Given the description of an element on the screen output the (x, y) to click on. 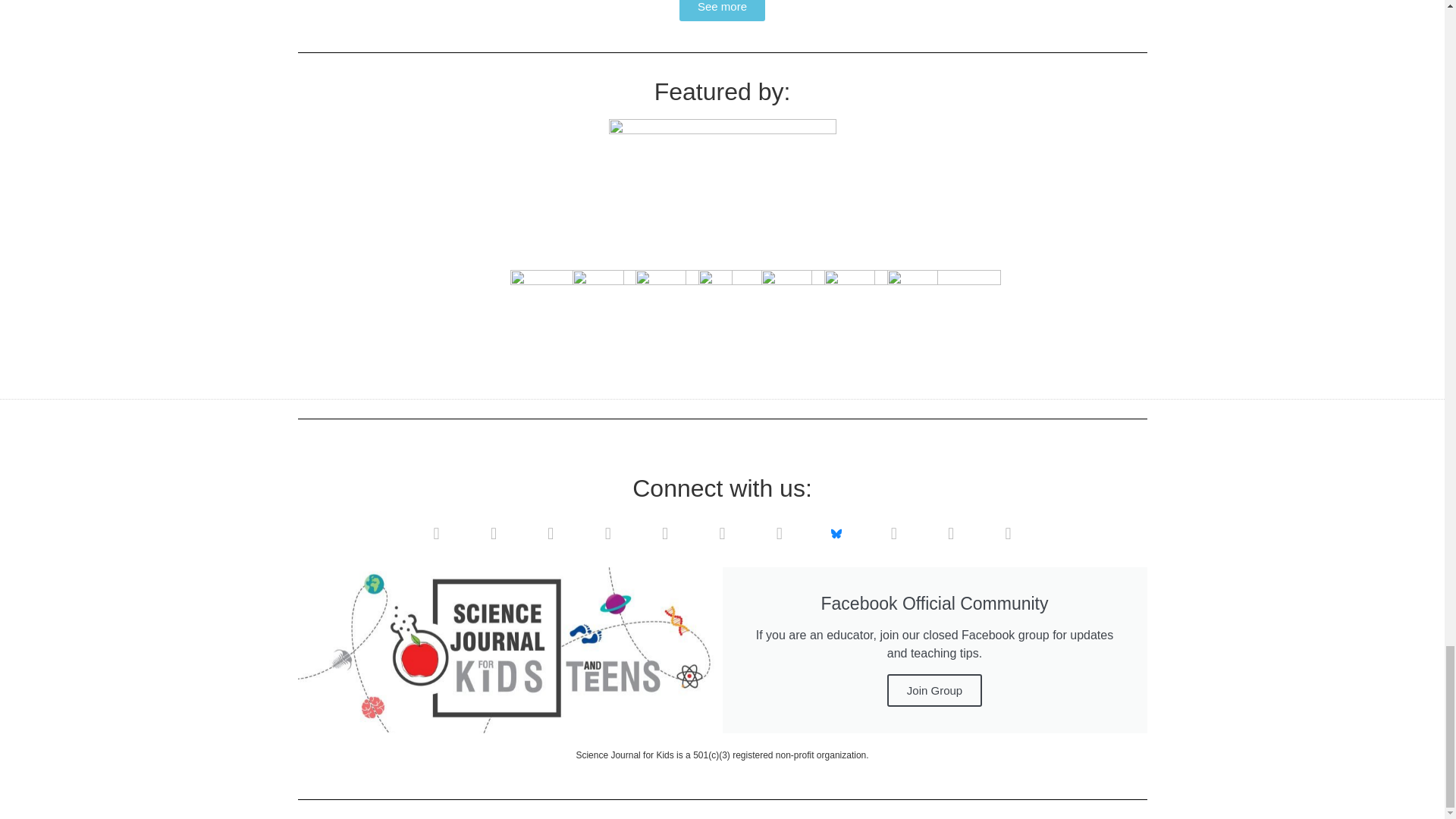
Podcast (607, 533)
YouTube (550, 533)
Instagram (721, 533)
Donate (1008, 533)
TikTok (893, 533)
LinkedIn (951, 533)
Facebook Page (664, 533)
Newsletter (435, 533)
Twitter (779, 533)
Email us (494, 533)
